Given the description of an element on the screen output the (x, y) to click on. 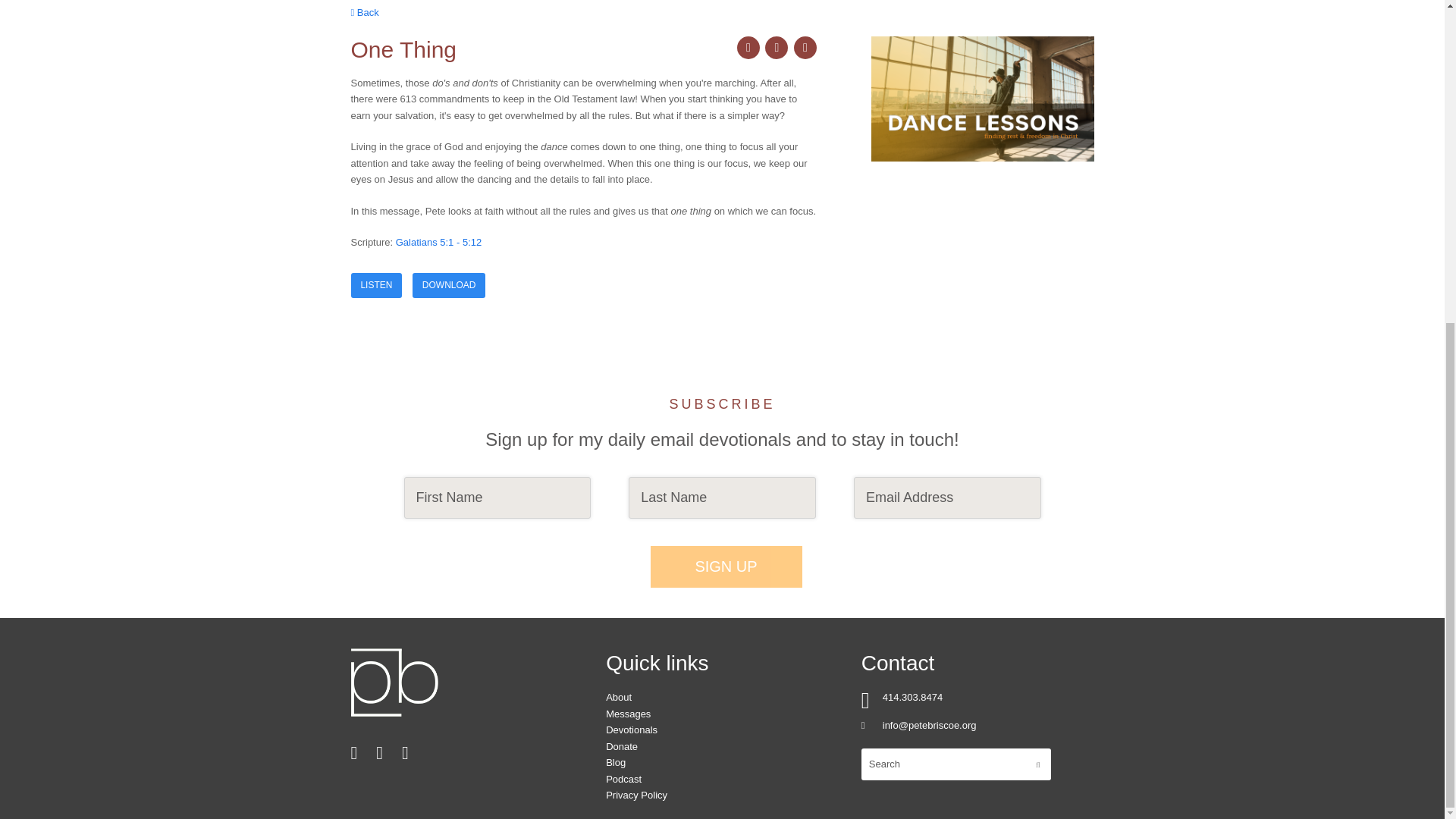
Youtube (405, 752)
About (618, 696)
Youtube (405, 752)
Messages (627, 713)
414.303.8474 (912, 696)
Twitter (378, 752)
Privacy Policy (635, 794)
Podcast (623, 778)
Donate (621, 746)
Blog (615, 762)
Back (364, 12)
Devotionals (631, 729)
Sign Up (726, 567)
facebook (776, 47)
SUBMIT (1038, 764)
